Given the description of an element on the screen output the (x, y) to click on. 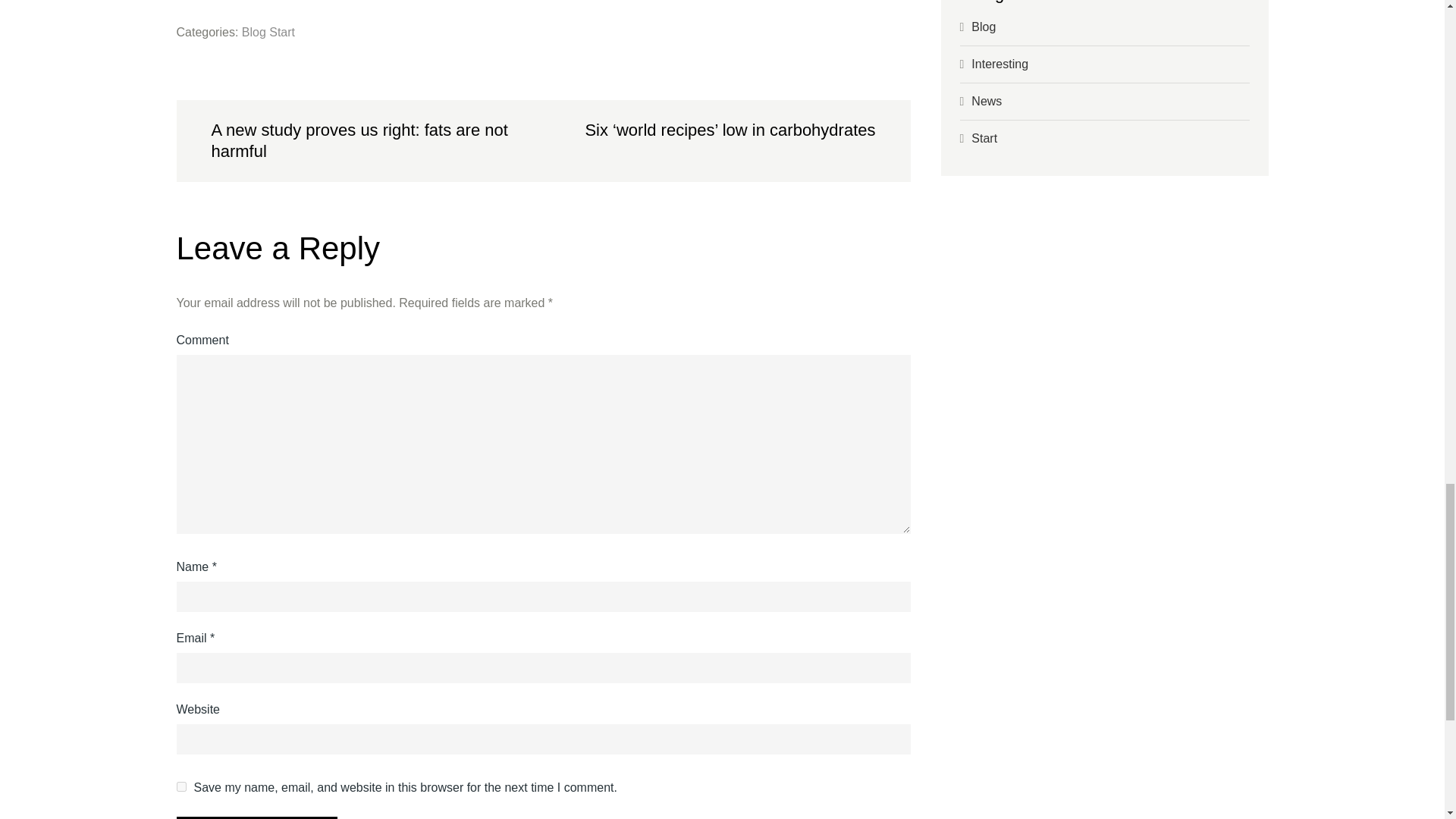
Post Comment (256, 817)
Start (282, 31)
yes (181, 786)
Post Comment (256, 817)
Blog (253, 31)
